Given the description of an element on the screen output the (x, y) to click on. 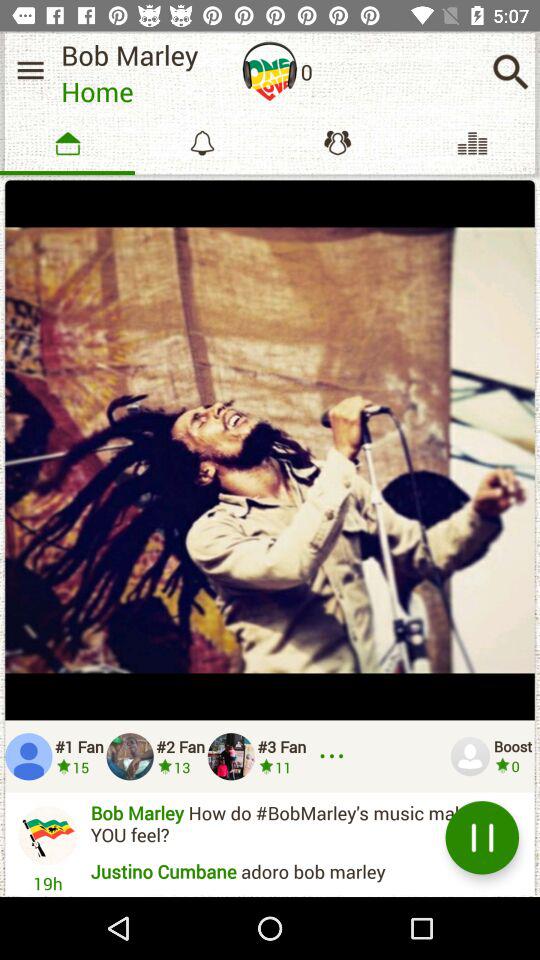
open item to the right of the bob marley item (269, 71)
